Given the description of an element on the screen output the (x, y) to click on. 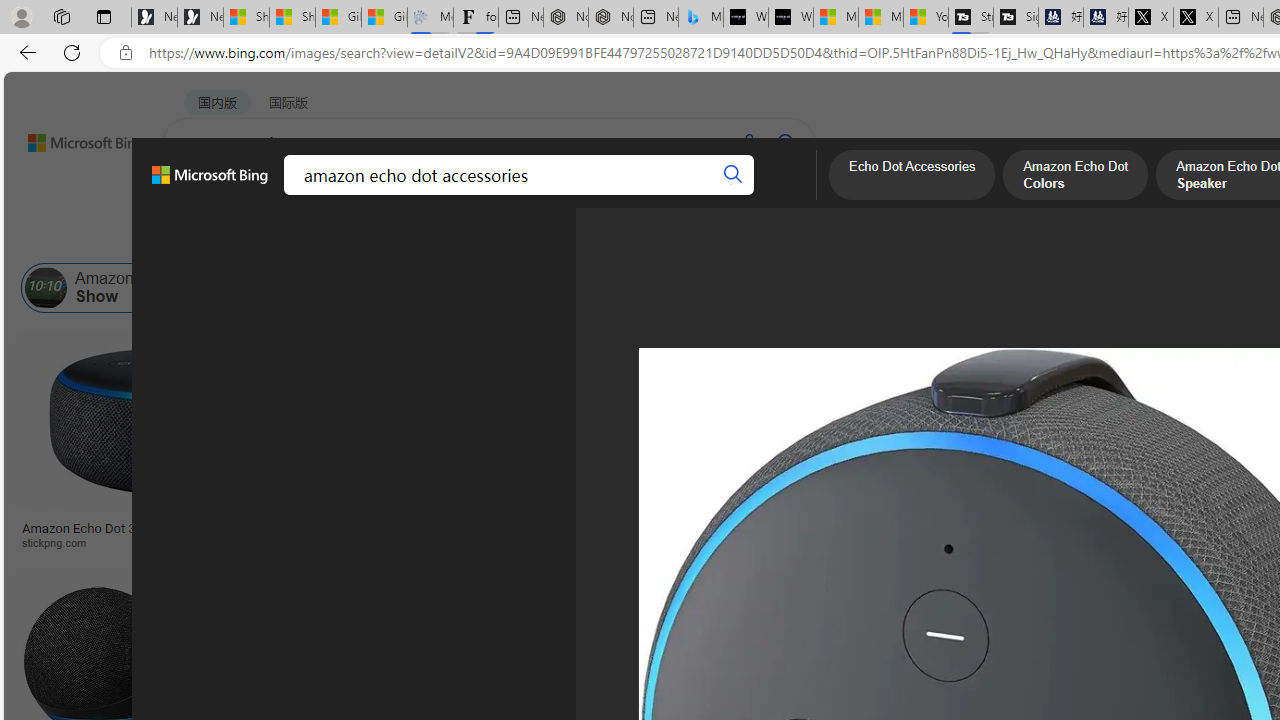
People (520, 237)
IMAGES (274, 196)
Amazon Alexa Echo (283, 287)
stickpng.com (1149, 541)
Newsletter Sign Up (199, 17)
Color (305, 237)
Echo Dot with Clock (995, 460)
Nordace - #1 Japanese Best-Seller - Siena Smart Backpack (610, 17)
FrAndroid (758, 541)
License (664, 237)
